Given the description of an element on the screen output the (x, y) to click on. 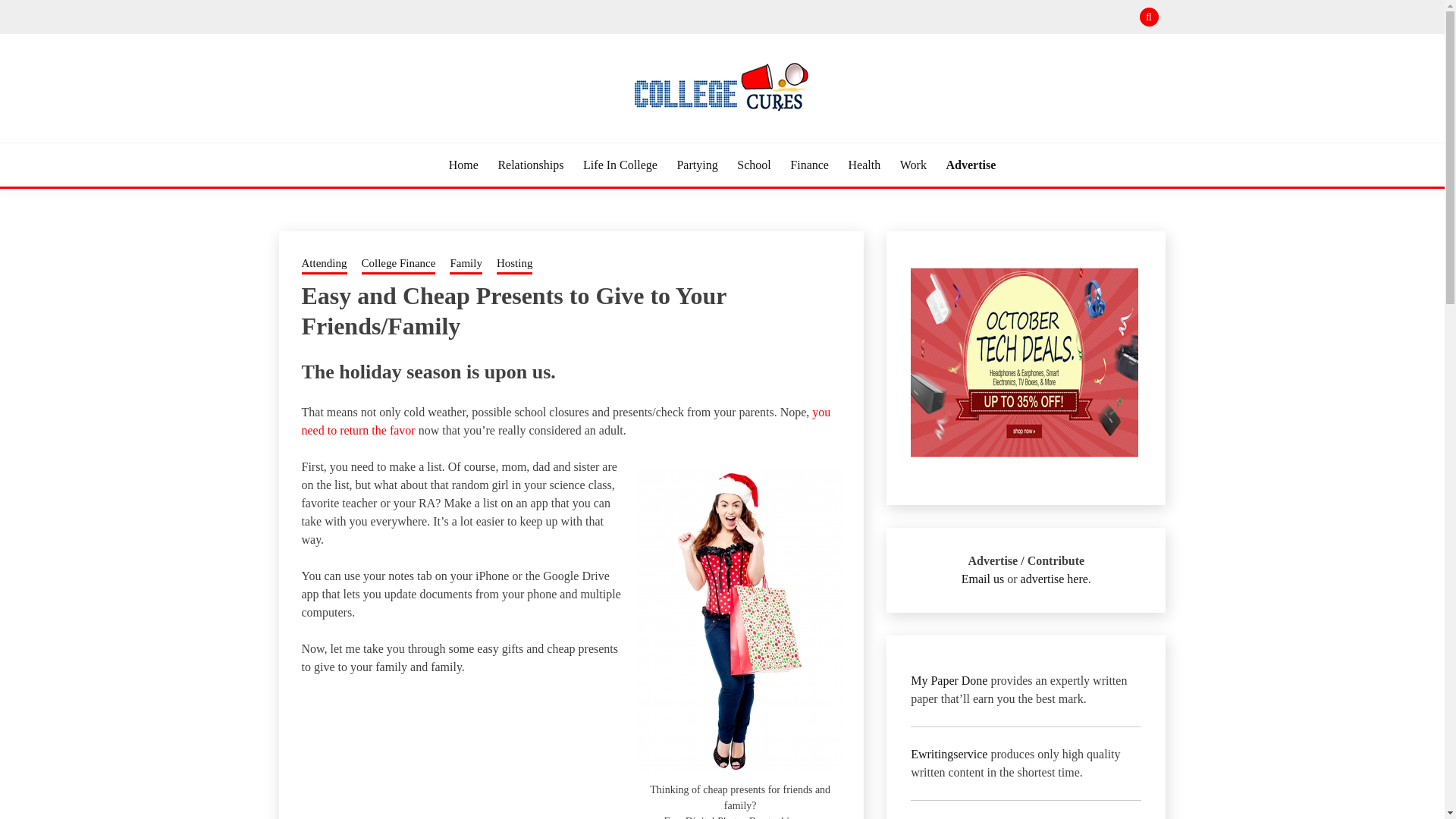
Partying (697, 164)
Life In College (620, 164)
Home (463, 164)
Email us (982, 578)
School (753, 164)
Health (864, 164)
Search (832, 18)
Advertise (970, 164)
Hosting (514, 264)
Relationships (530, 164)
Work (912, 164)
Finance (809, 164)
Family (465, 264)
Attending (324, 264)
